Given the description of an element on the screen output the (x, y) to click on. 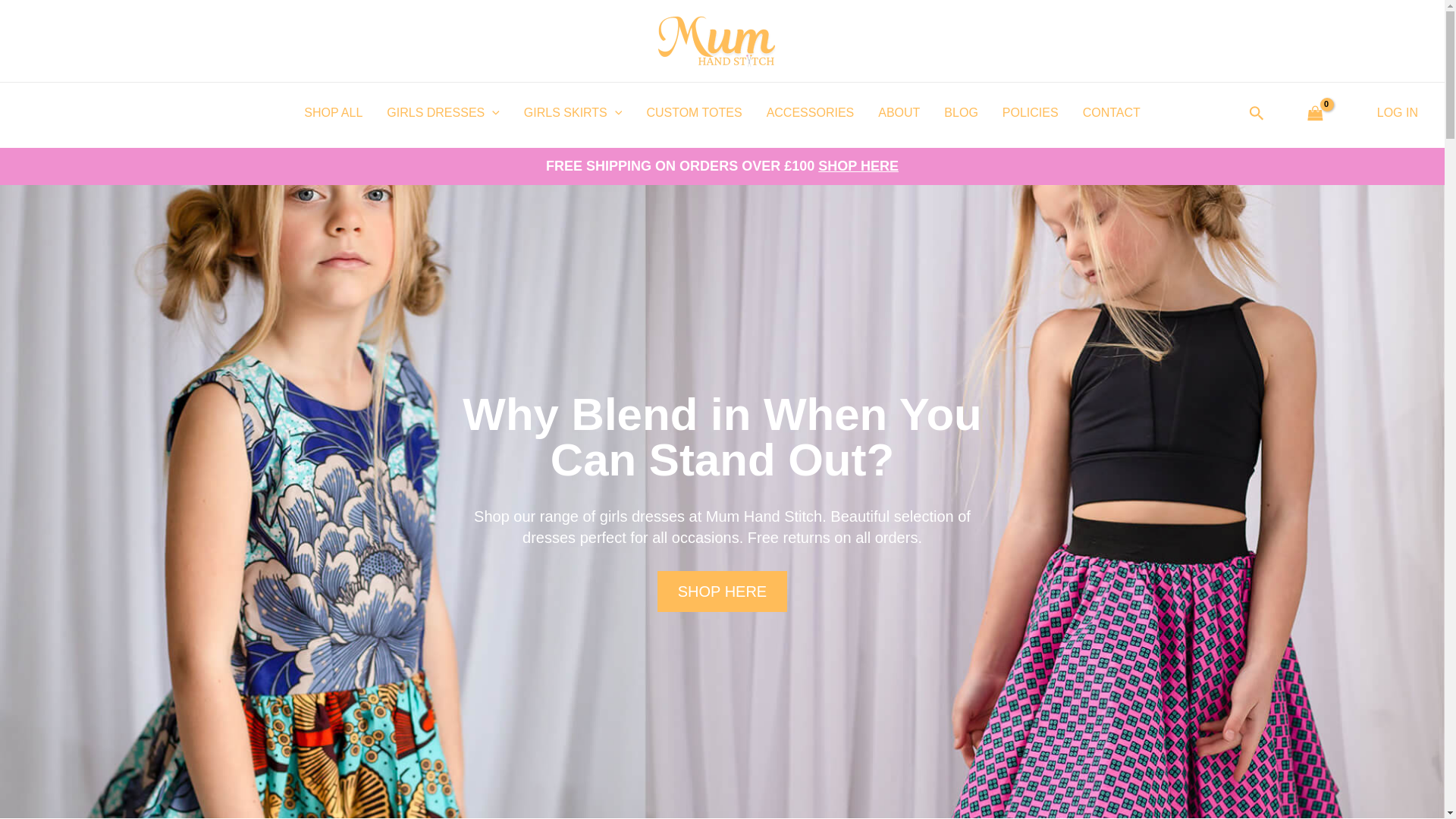
ACCESSORIES (810, 112)
LOG IN (1397, 112)
GIRLS DRESSES (443, 112)
POLICIES (1030, 112)
CUSTOM TOTES (693, 112)
BLOG (960, 112)
SHOP ALL (333, 112)
GIRLS SKIRTS (573, 112)
ABOUT (898, 112)
CONTACT (1111, 112)
